Given the description of an element on the screen output the (x, y) to click on. 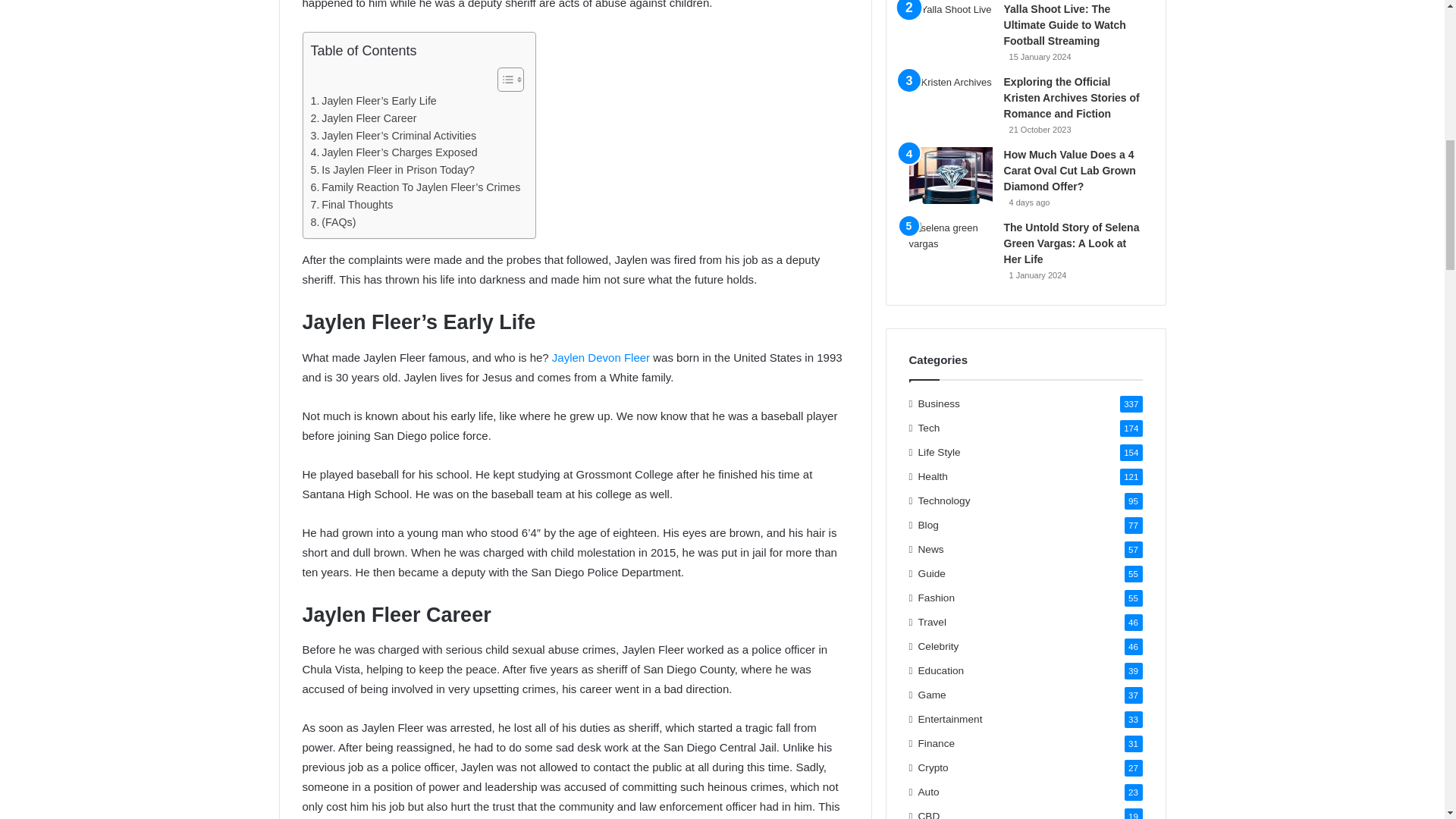
Is Jaylen Fleer in Prison Today? (392, 170)
Final Thoughts (352, 204)
Is Jaylen Fleer in Prison Today? (392, 170)
Jaylen Fleer Career (363, 118)
Jaylen Devon Fleer (600, 357)
Final Thoughts (352, 204)
Jaylen Fleer Career (363, 118)
